Given the description of an element on the screen output the (x, y) to click on. 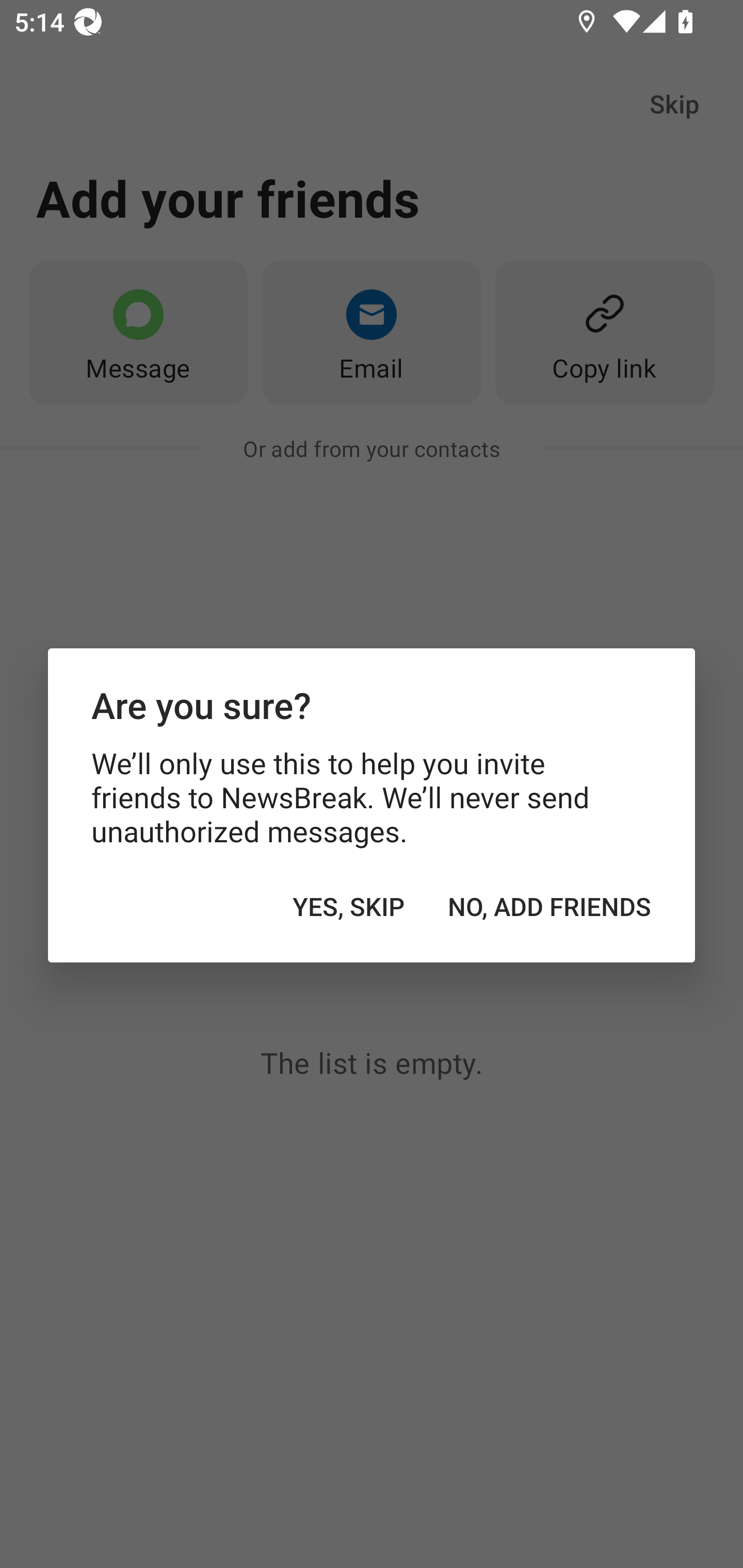
YES, SKIP (348, 905)
NO, ADD FRIENDS (549, 905)
